Given the description of an element on the screen output the (x, y) to click on. 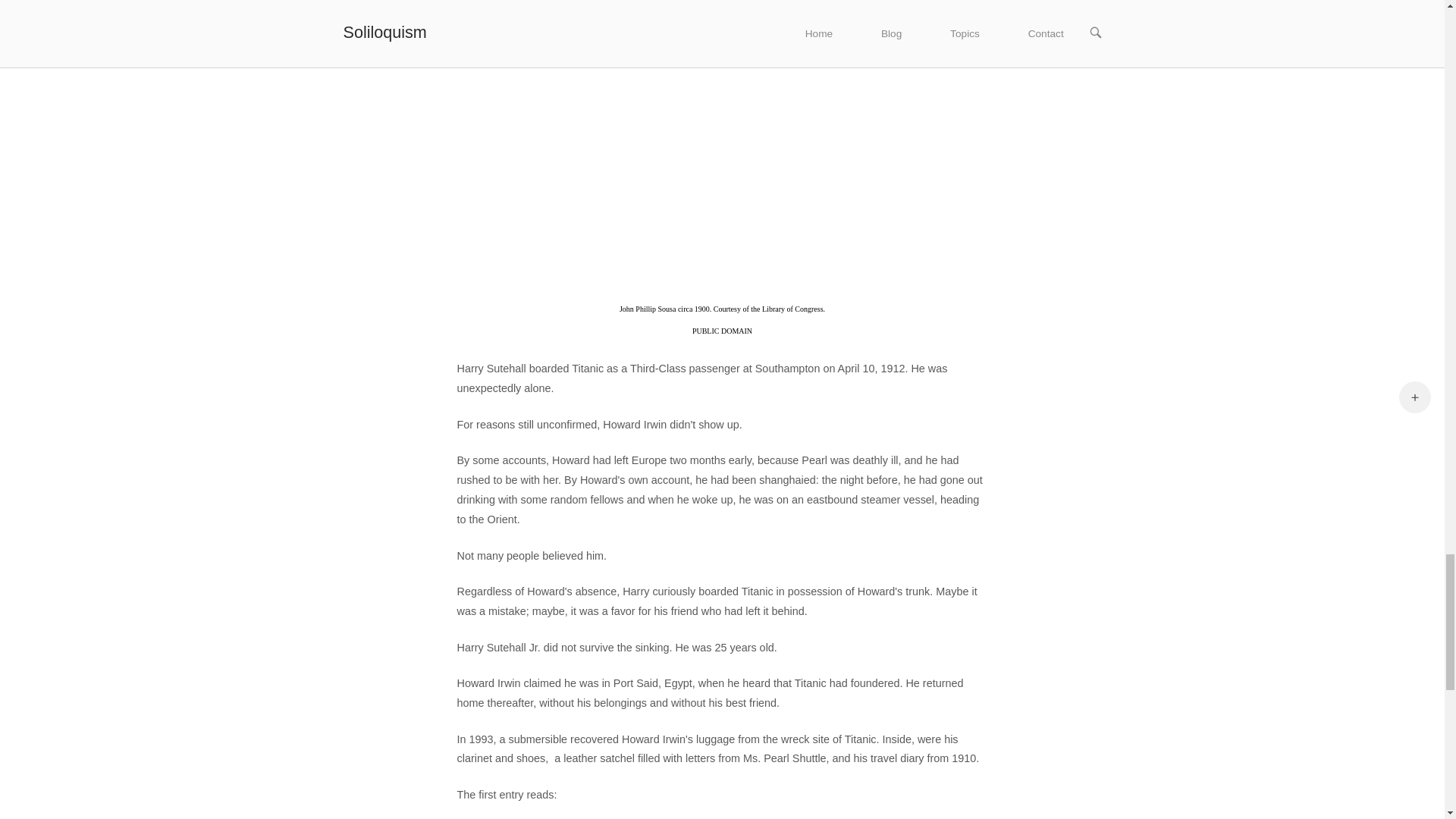
PUBLIC DOMAIN (722, 330)
